Given the description of an element on the screen output the (x, y) to click on. 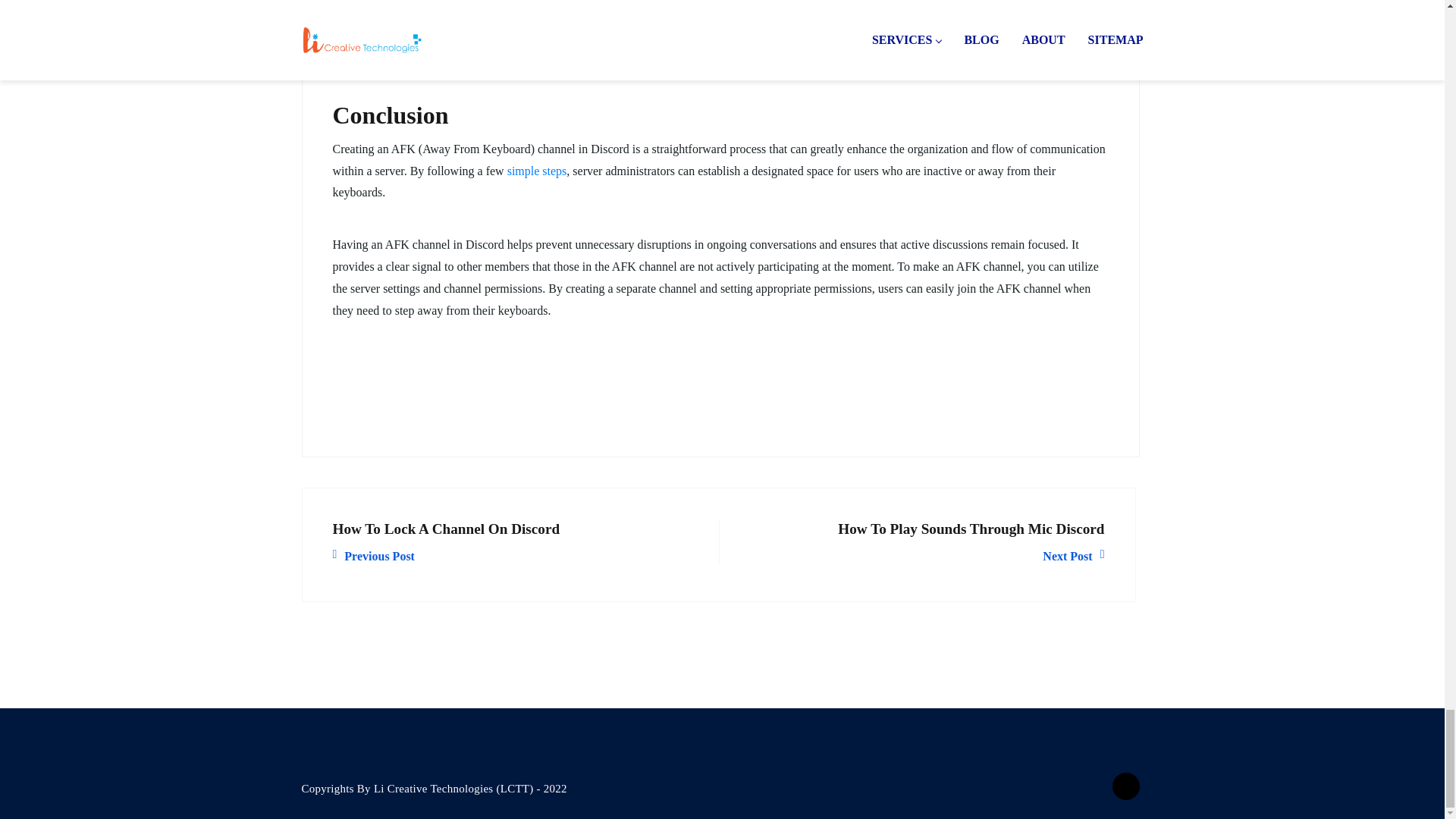
simple steps (922, 541)
